Given the description of an element on the screen output the (x, y) to click on. 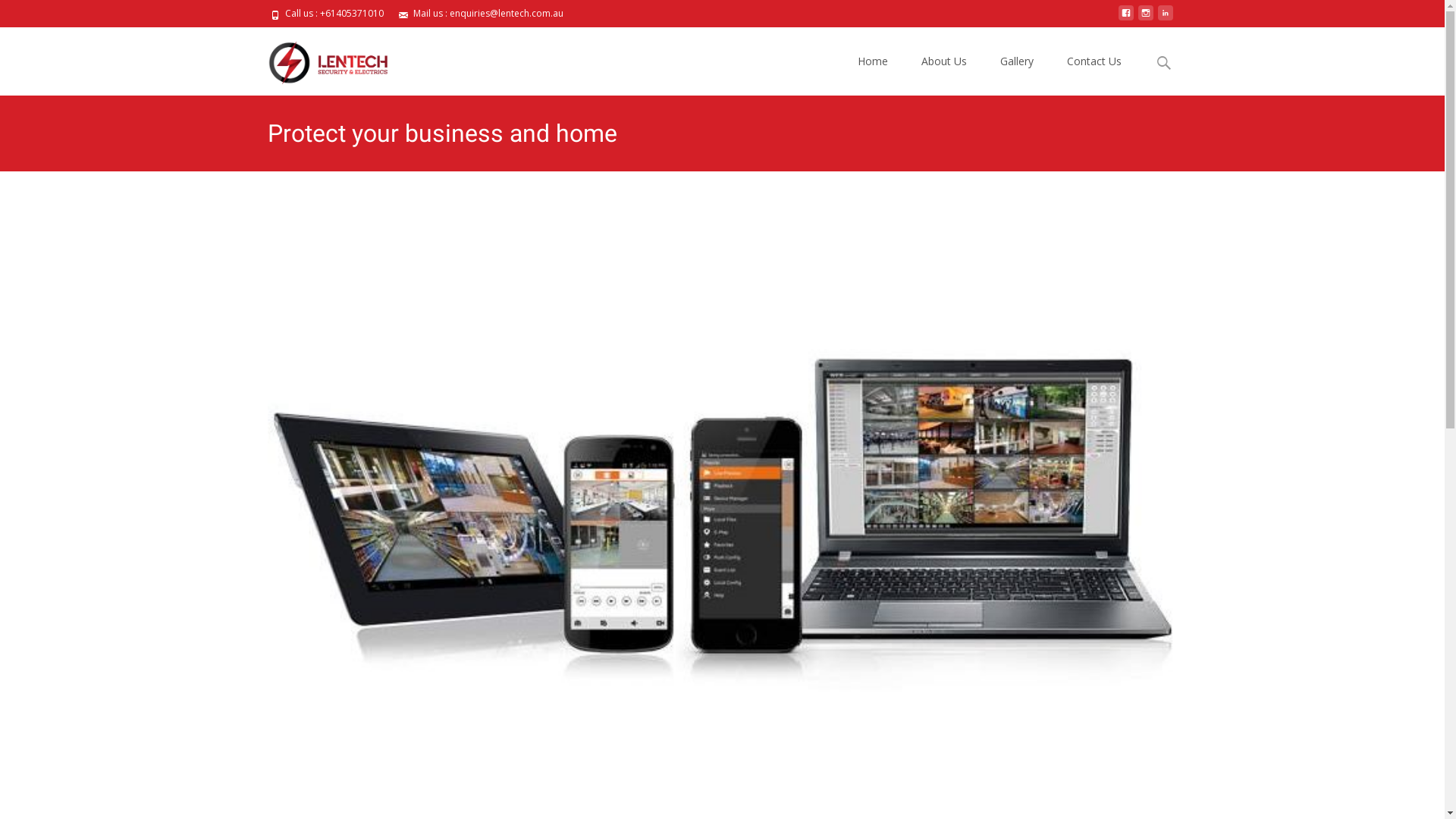
About Us Element type: text (943, 61)
Lentech Security and Electrics Element type: hover (323, 57)
Search Element type: text (18, 15)
facebook Element type: hover (1124, 18)
Home Element type: text (871, 61)
linkedin Element type: hover (1164, 18)
instagram Element type: hover (1144, 18)
Skip to content Element type: text (878, 36)
Gallery Element type: text (1016, 61)
Search Element type: text (35, 16)
Search for: Element type: hover (1163, 63)
Contact Us Element type: text (1093, 61)
